Given the description of an element on the screen output the (x, y) to click on. 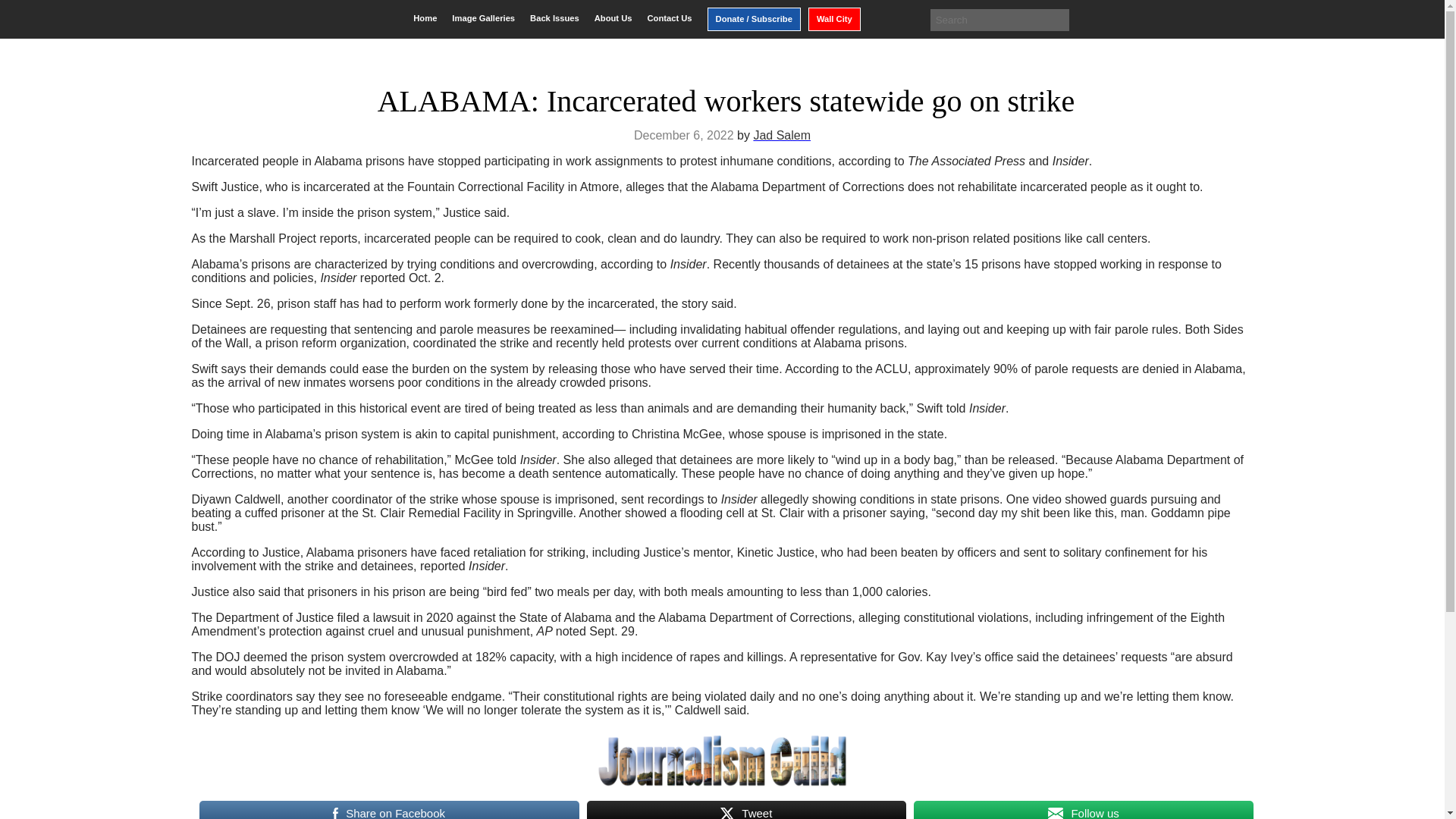
Home (424, 17)
About Us (612, 17)
Search (22, 12)
Jad Salem (781, 134)
Tweet (745, 809)
Back Issues (554, 17)
Contact Us (668, 17)
Image Galleries (483, 17)
Share on Facebook (388, 809)
Wall City (833, 18)
